Given the description of an element on the screen output the (x, y) to click on. 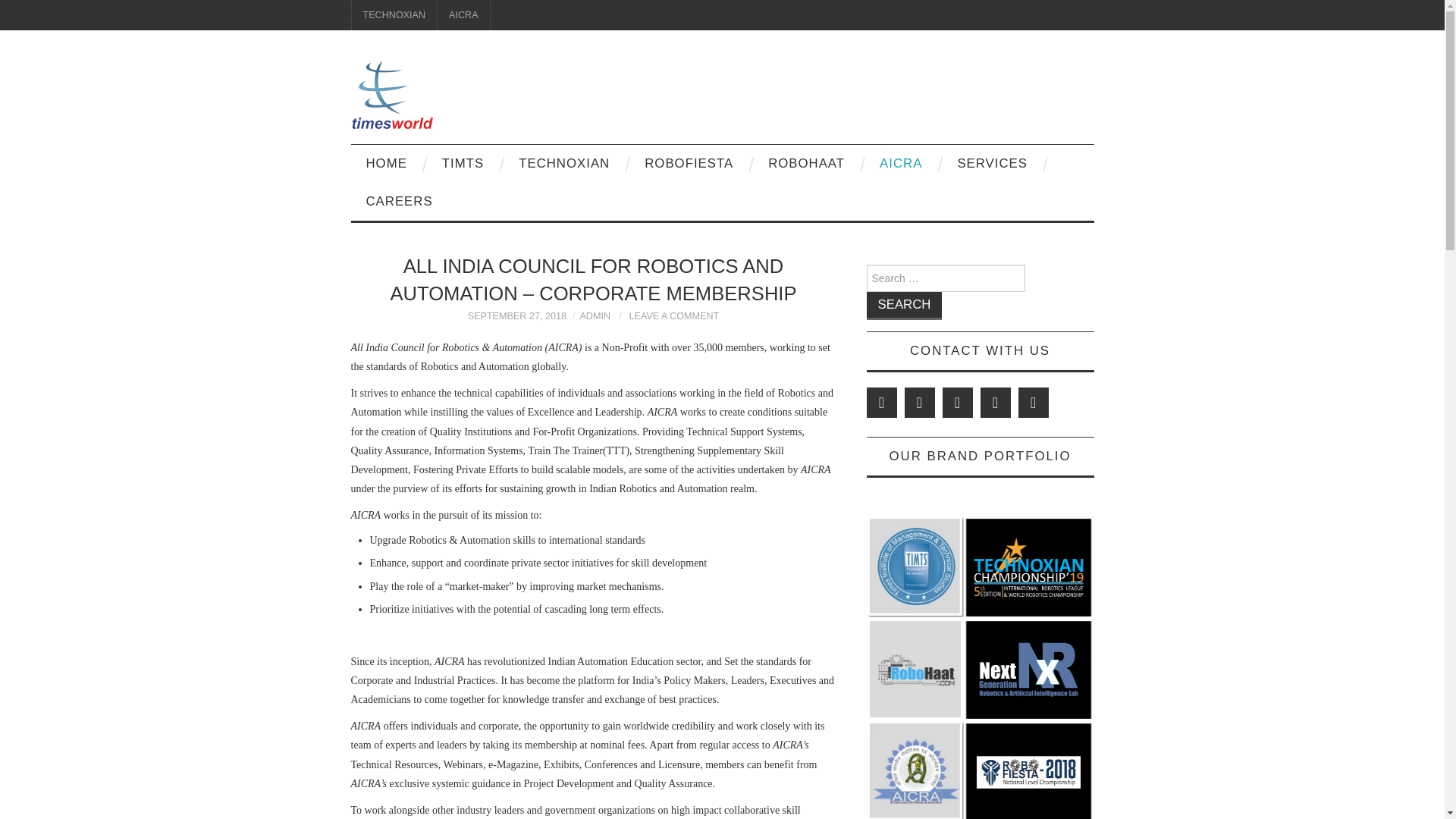
ROBOFIESTA (688, 163)
HOME (386, 163)
YouTube (1032, 402)
AICRA (900, 163)
TIMTS (462, 163)
TECHNOXIAN (563, 163)
LinkedIn (957, 402)
ROBOHAAT (806, 163)
LEAVE A COMMENT (673, 316)
Search (904, 305)
Search (904, 305)
ADMIN (594, 316)
Search (904, 305)
Twitter (881, 402)
TECHNOXIAN (395, 15)
